Given the description of an element on the screen output the (x, y) to click on. 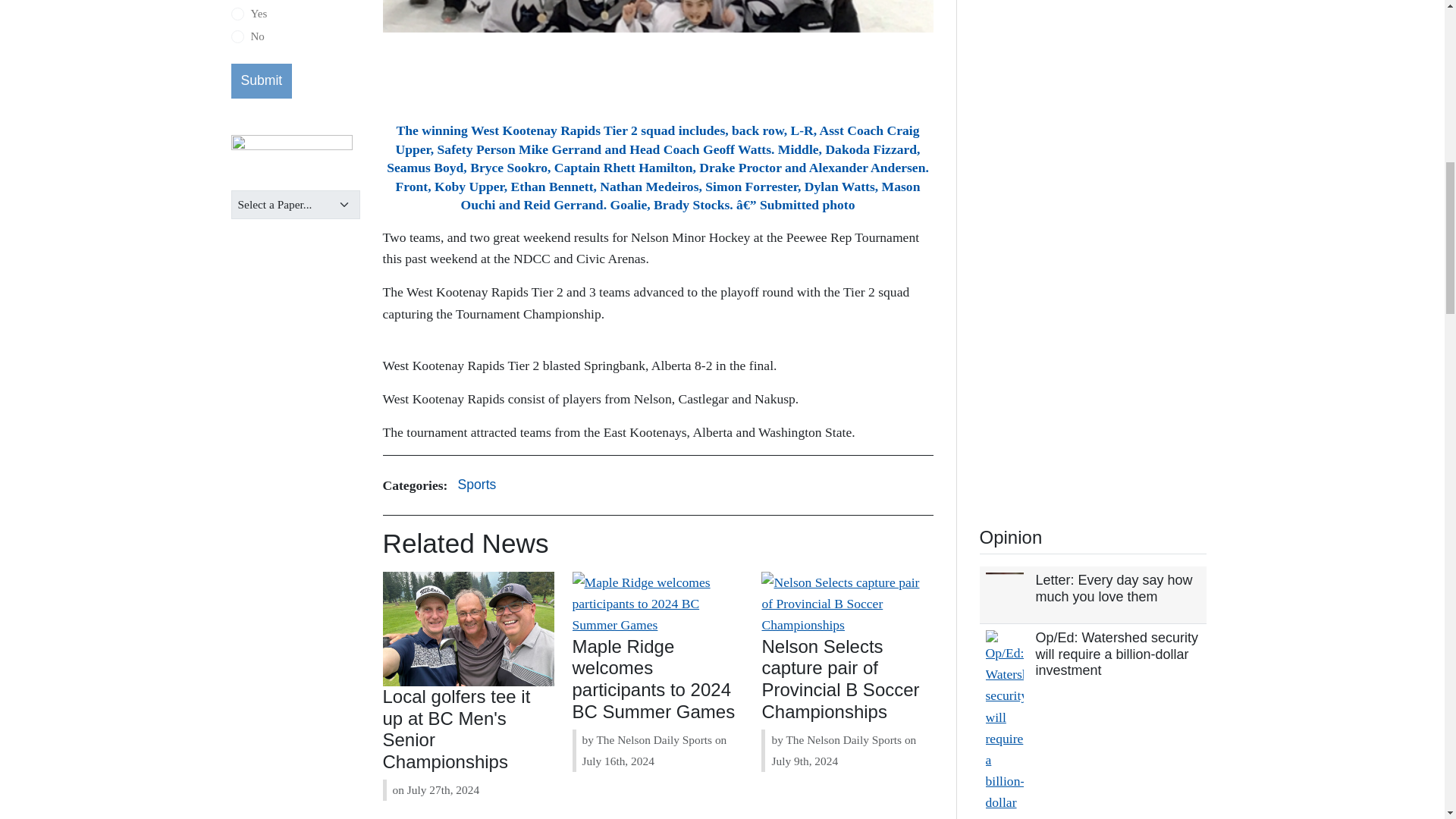
Maple Ridge welcomes participants to 2024 BC Summer Games (653, 678)
gpoll24ce86b7a (237, 14)
Letter: Every day say how much you love them (1113, 588)
Sports (475, 484)
Local golfers tee it up at BC Men's Senior Championships (456, 729)
Submit (261, 80)
Submit (261, 80)
gpoll21fab29bd (237, 37)
